Given the description of an element on the screen output the (x, y) to click on. 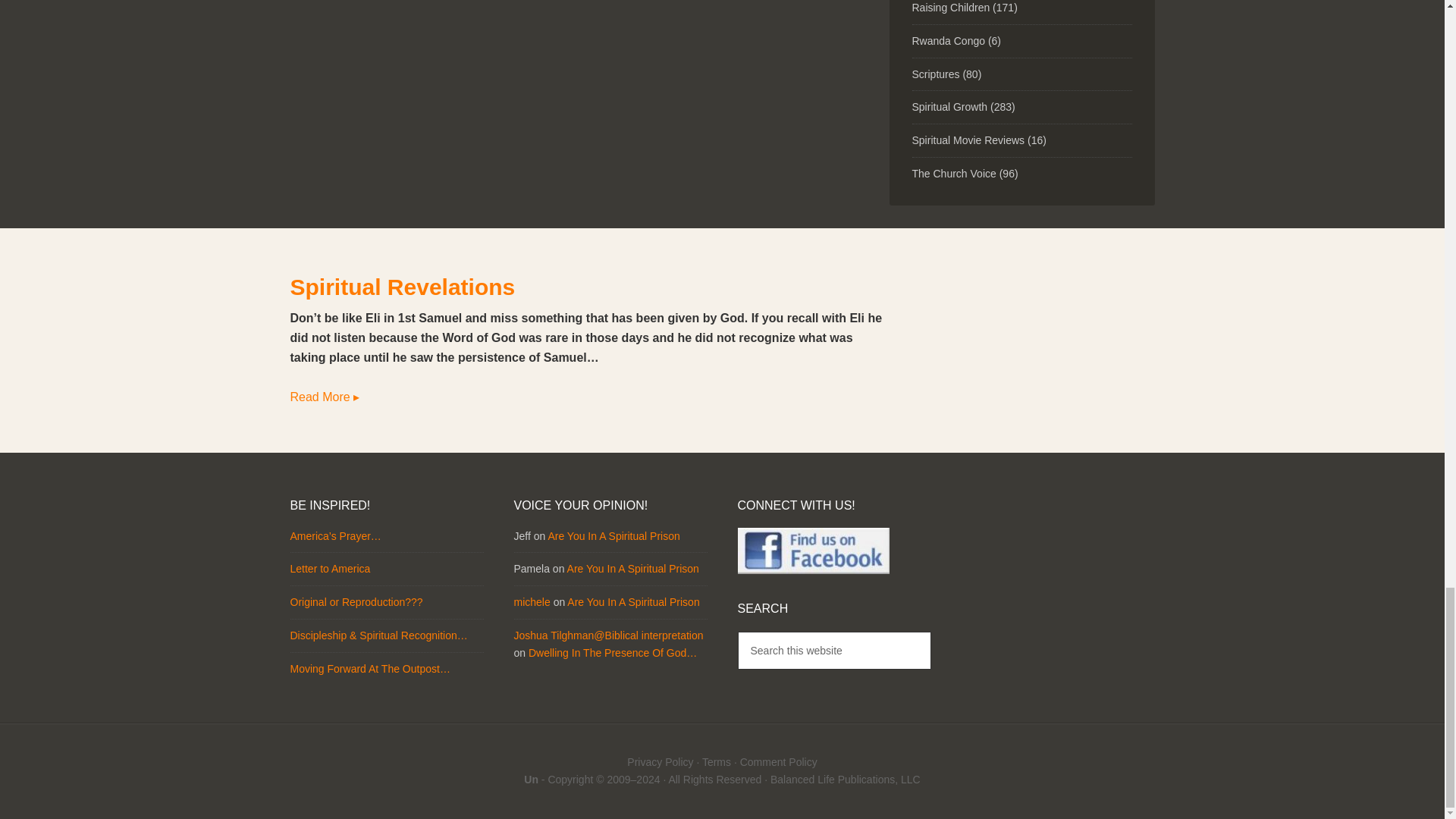
Daily Bible Scriptures (935, 73)
